Given the description of an element on the screen output the (x, y) to click on. 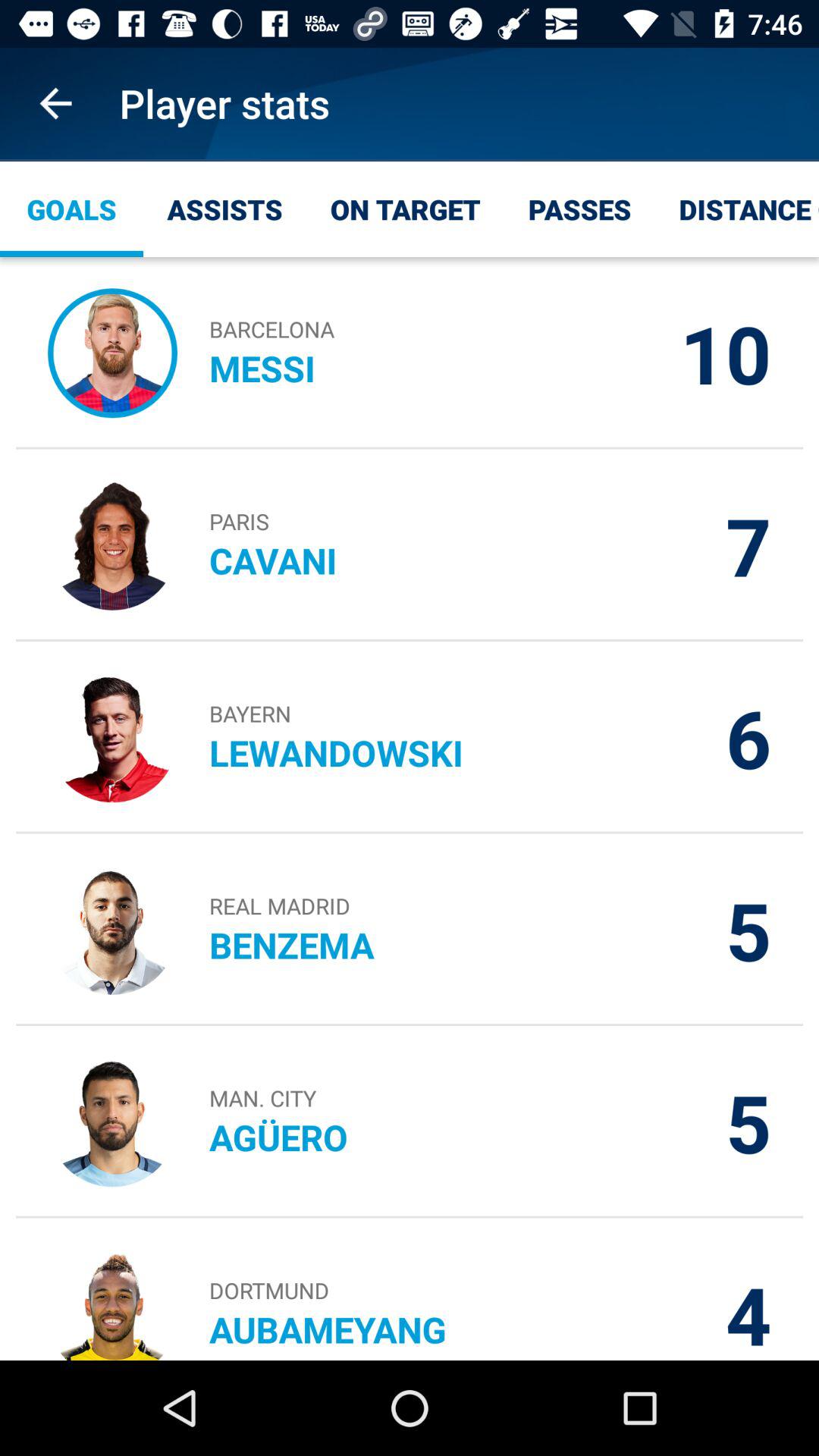
go to previous (55, 103)
